Given the description of an element on the screen output the (x, y) to click on. 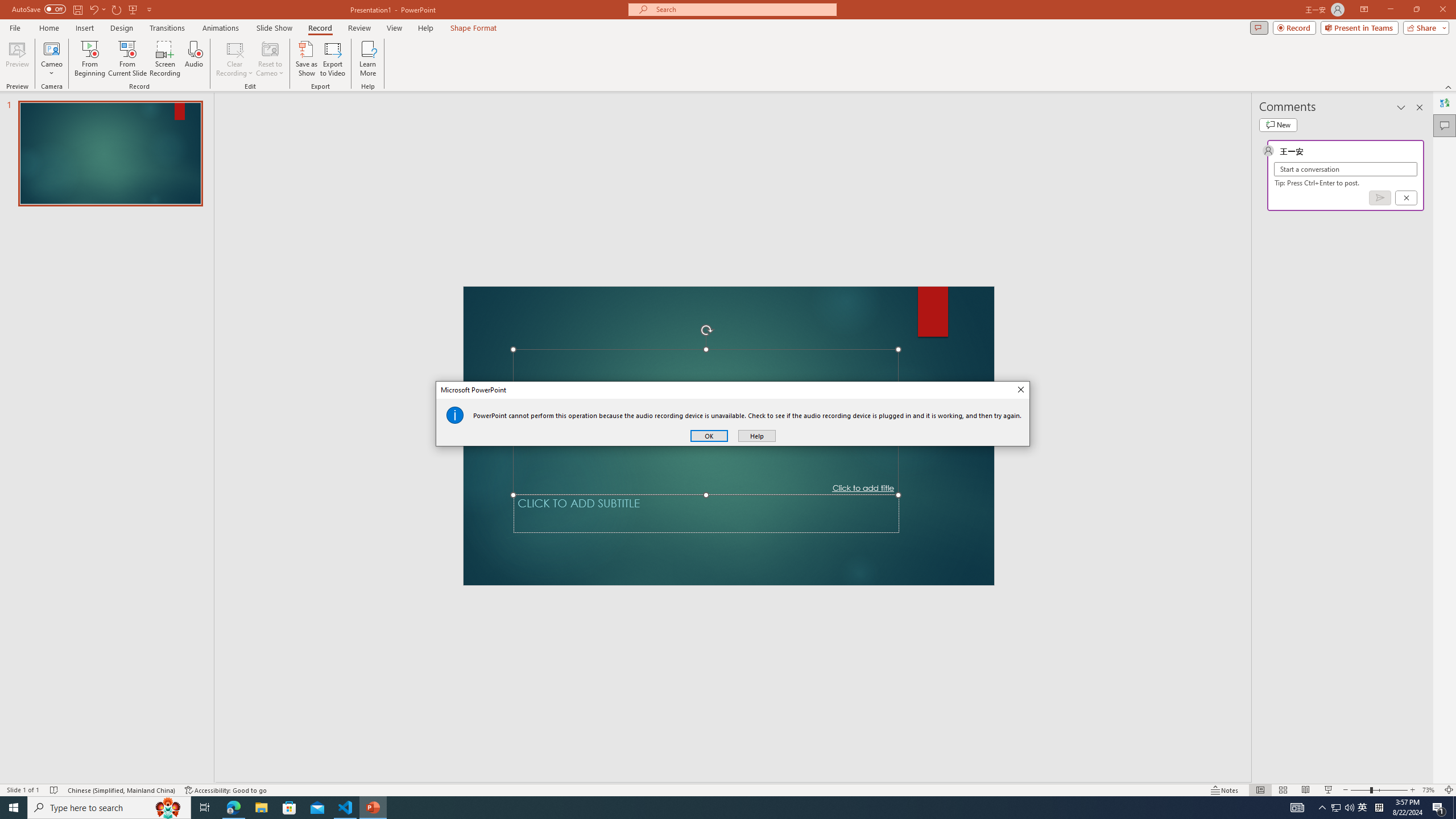
Share (1423, 27)
Save as Show (306, 58)
Class: Static (454, 415)
Microsoft Store (289, 807)
From Current Slide... (127, 58)
Translator (1444, 102)
Reading View (1305, 790)
Running applications (707, 807)
Slide (110, 153)
Quick Access Toolbar (1335, 807)
